Given the description of an element on the screen output the (x, y) to click on. 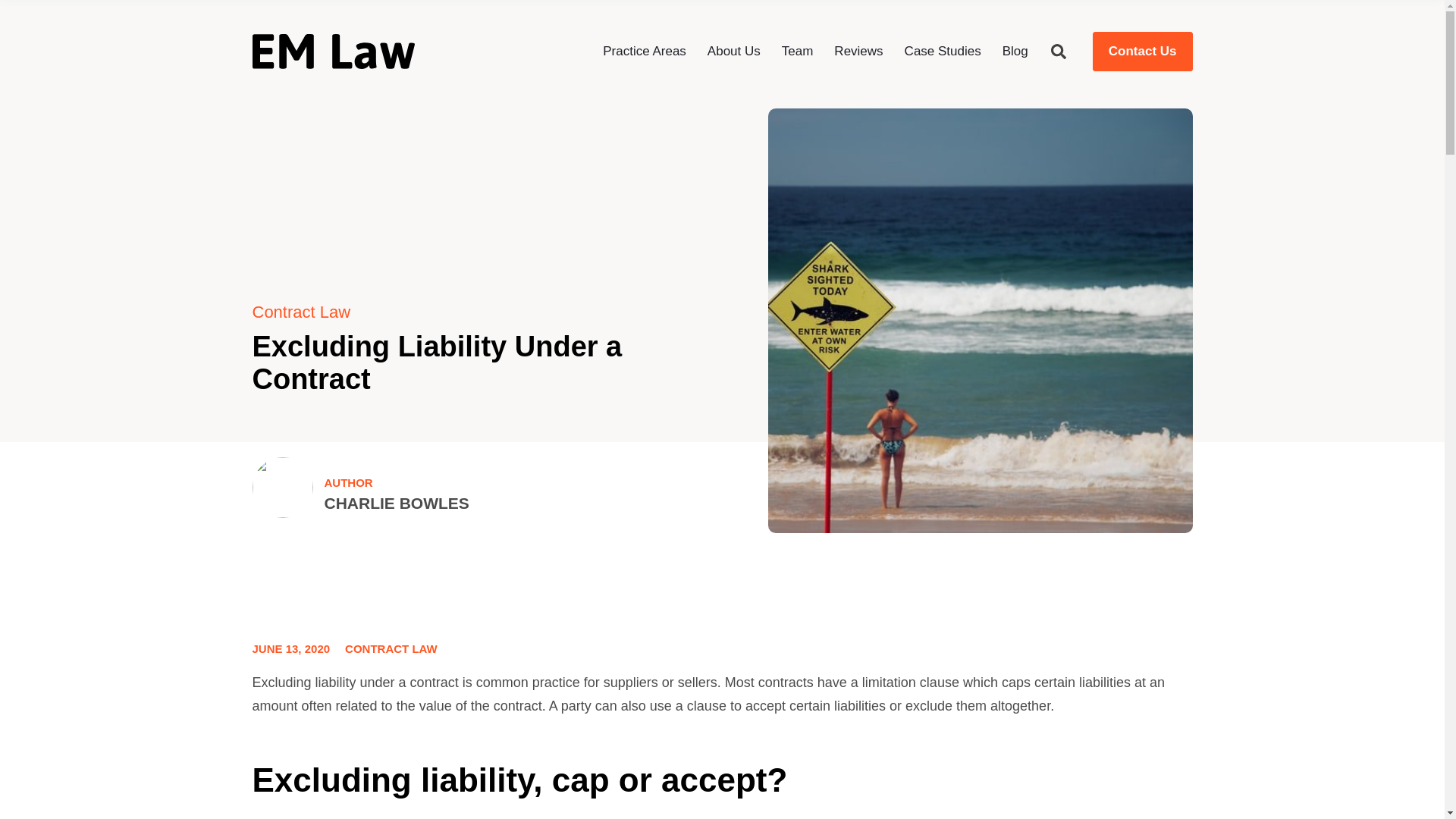
Blog (1015, 51)
Contact Us (1142, 51)
Practice Areas (643, 51)
Team (797, 51)
About Us (733, 51)
Reviews (858, 51)
Case Studies (942, 51)
